Given the description of an element on the screen output the (x, y) to click on. 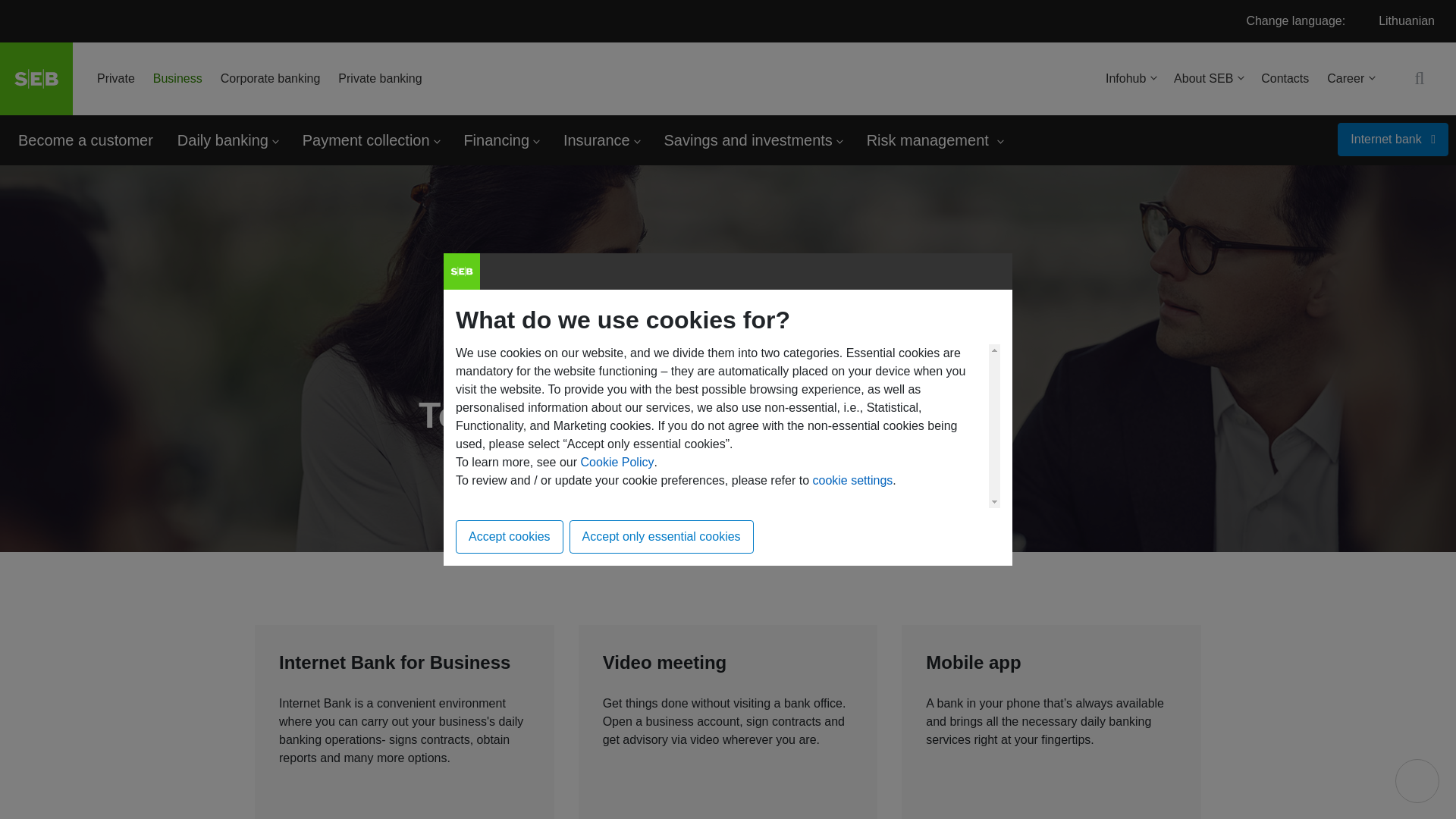
Corporate banking (270, 78)
Skip to main content (35, 134)
About SEB (1208, 78)
Corporate banking (270, 78)
Private banking (379, 78)
Private banking (379, 78)
Become a customer (84, 140)
About SEB (1208, 78)
Lithuanian (1406, 20)
